Given the description of an element on the screen output the (x, y) to click on. 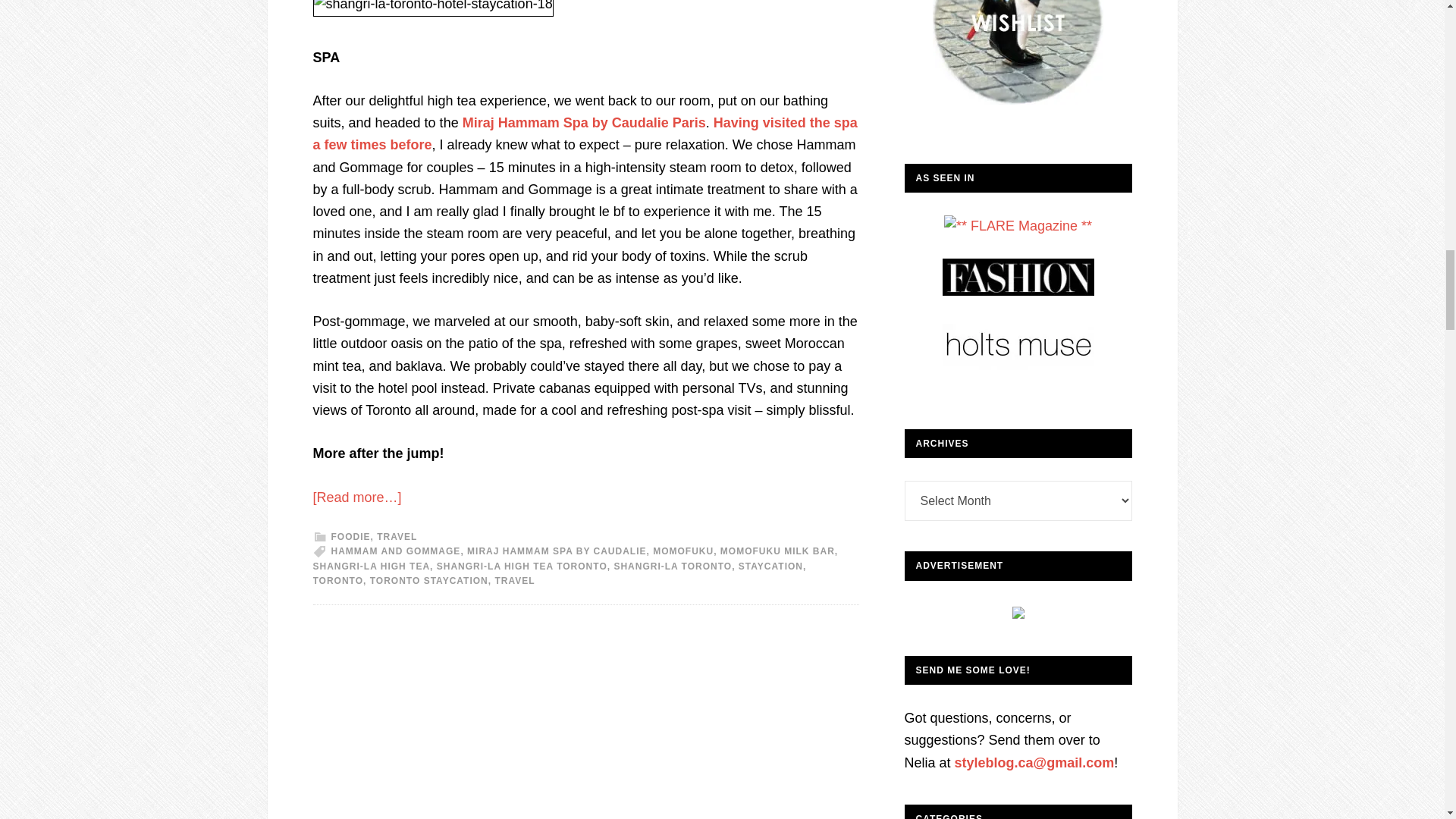
SHANGRI-LA TORONTO (672, 566)
TORONTO STAYCATION (428, 580)
Miraj Hammam Spa by Caudalie Paris (584, 122)
TRAVEL (396, 536)
TRAVEL (514, 580)
SHANGRI-LA HIGH TEA TORONTO (521, 566)
FOODIE (349, 536)
MOMOFUKU (682, 551)
HAMMAM AND GOMMAGE (395, 551)
SHANGRI-LA HIGH TEA (371, 566)
STAYCATION (770, 566)
Having visited the spa a few times before (585, 133)
MIRAJ HAMMAM SPA BY CAUDALIE (556, 551)
MOMOFUKU MILK BAR (777, 551)
TORONTO (337, 580)
